Given the description of an element on the screen output the (x, y) to click on. 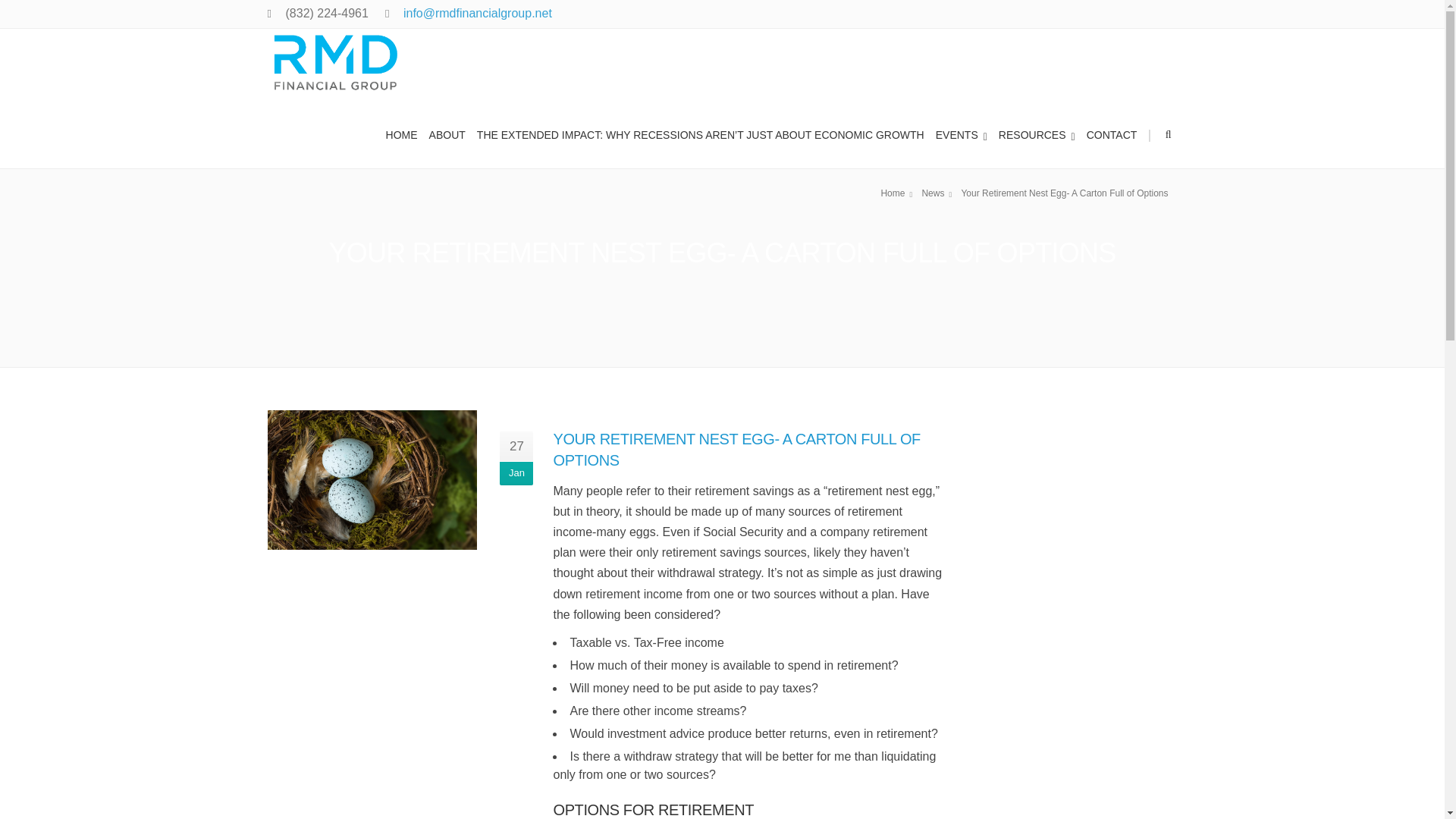
YOUR RETIREMENT NEST EGG- A CARTON FULL OF OPTIONS (736, 449)
News (938, 193)
RESOURCES (1038, 133)
CONTACT (1113, 133)
Home (898, 193)
Your Retirement Nest Egg- A Carton Full of Options (371, 480)
EVENTS (962, 133)
Your Retirement Nest Egg- A Carton Full of Options (1066, 192)
Who We Are (925, 582)
Recent News (926, 603)
Your Retirement Nest Egg- A Carton Full of Options (1066, 192)
Your Retirement Nest Egg- A Carton Full of Options (938, 193)
